Given the description of an element on the screen output the (x, y) to click on. 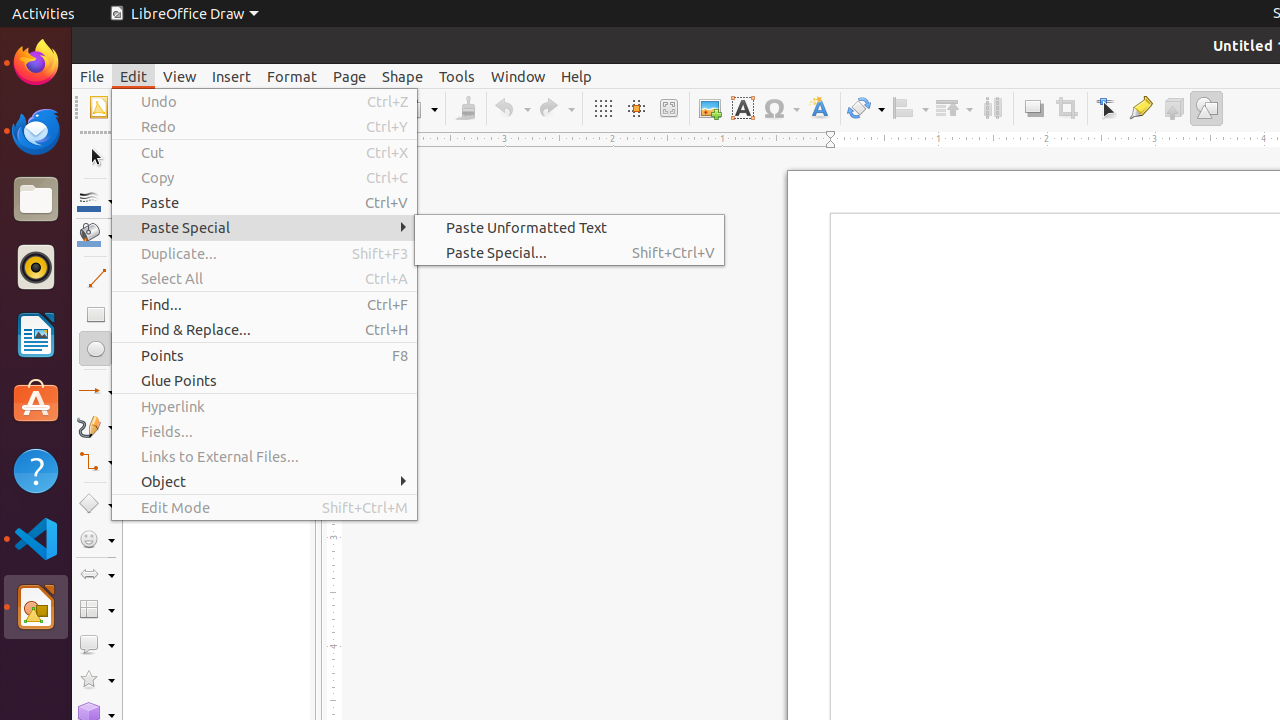
Crop Element type: push-button (1066, 108)
Links to External Files... Element type: menu-item (264, 456)
LibreOffice Draw Element type: menu (183, 13)
